Given the description of an element on the screen output the (x, y) to click on. 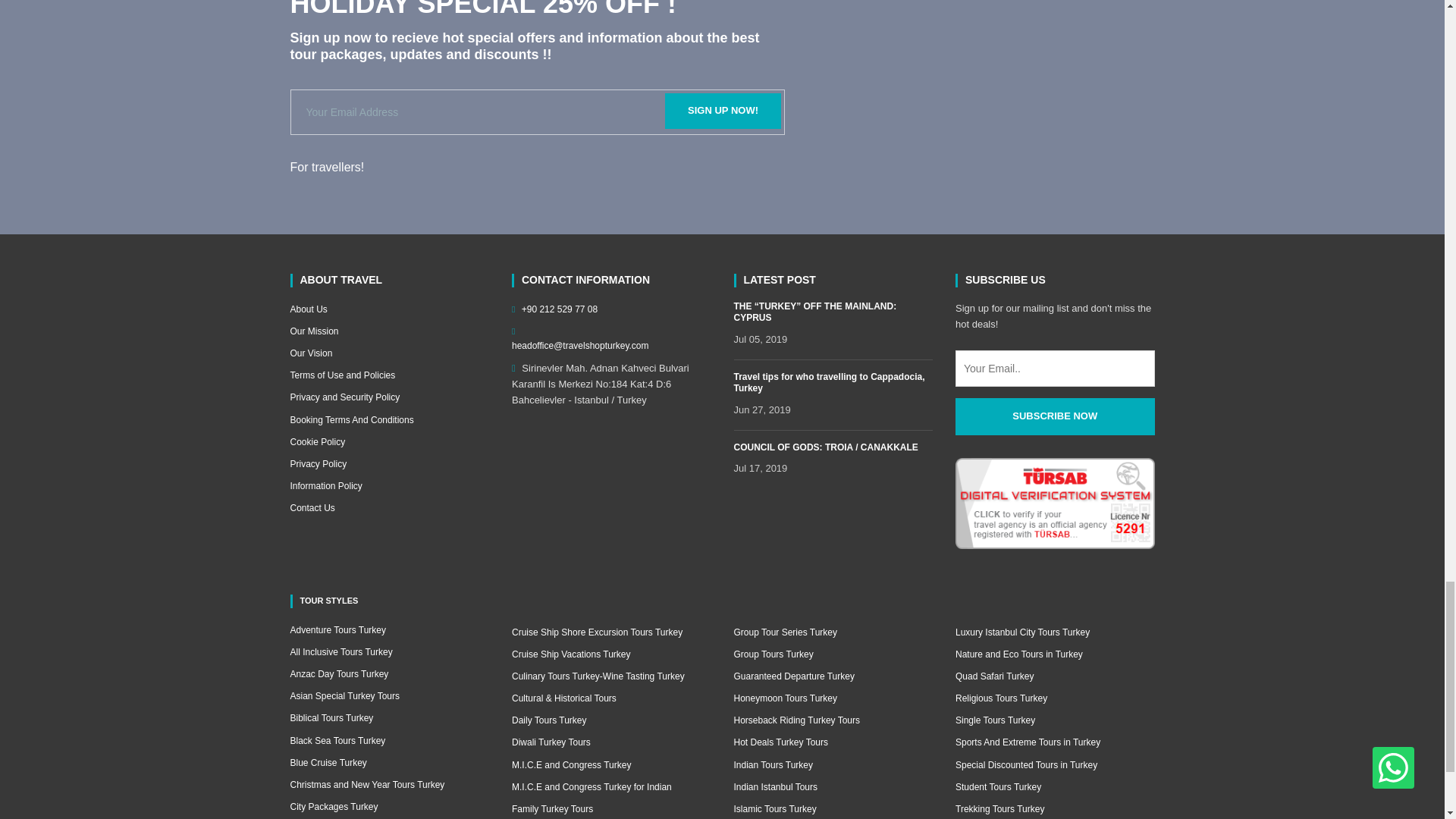
Privacy Policy (389, 464)
Contact Us (389, 508)
Information Policy (389, 486)
Our Mission (389, 331)
Terms of Use and Policies (389, 375)
SIGN UP NOW! (722, 110)
Our Vision (389, 353)
Booking Terms And Conditions (389, 420)
Cookie Policy (389, 441)
About Us (389, 309)
